Given the description of an element on the screen output the (x, y) to click on. 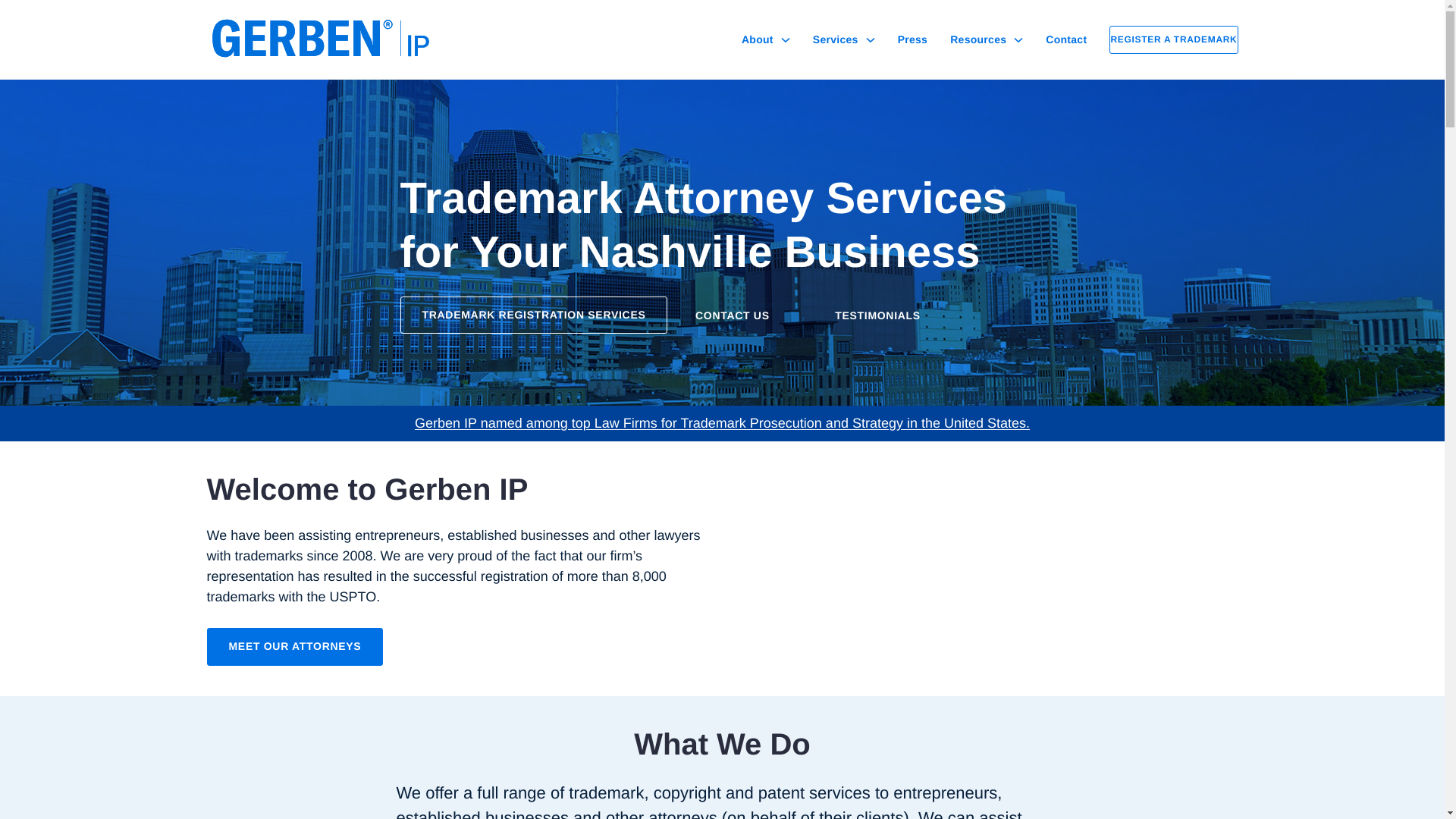
CONTACT US (741, 314)
About (757, 39)
REGISTER A TRADEMARK (1173, 39)
Services (835, 39)
Resources (978, 39)
Contact (1065, 39)
Gerben IP (327, 38)
TRADEMARK REGISTRATION SERVICES (534, 315)
MEET OUR ATTORNEYS (294, 646)
Press (913, 39)
TESTIMONIALS (885, 314)
